Given the description of an element on the screen output the (x, y) to click on. 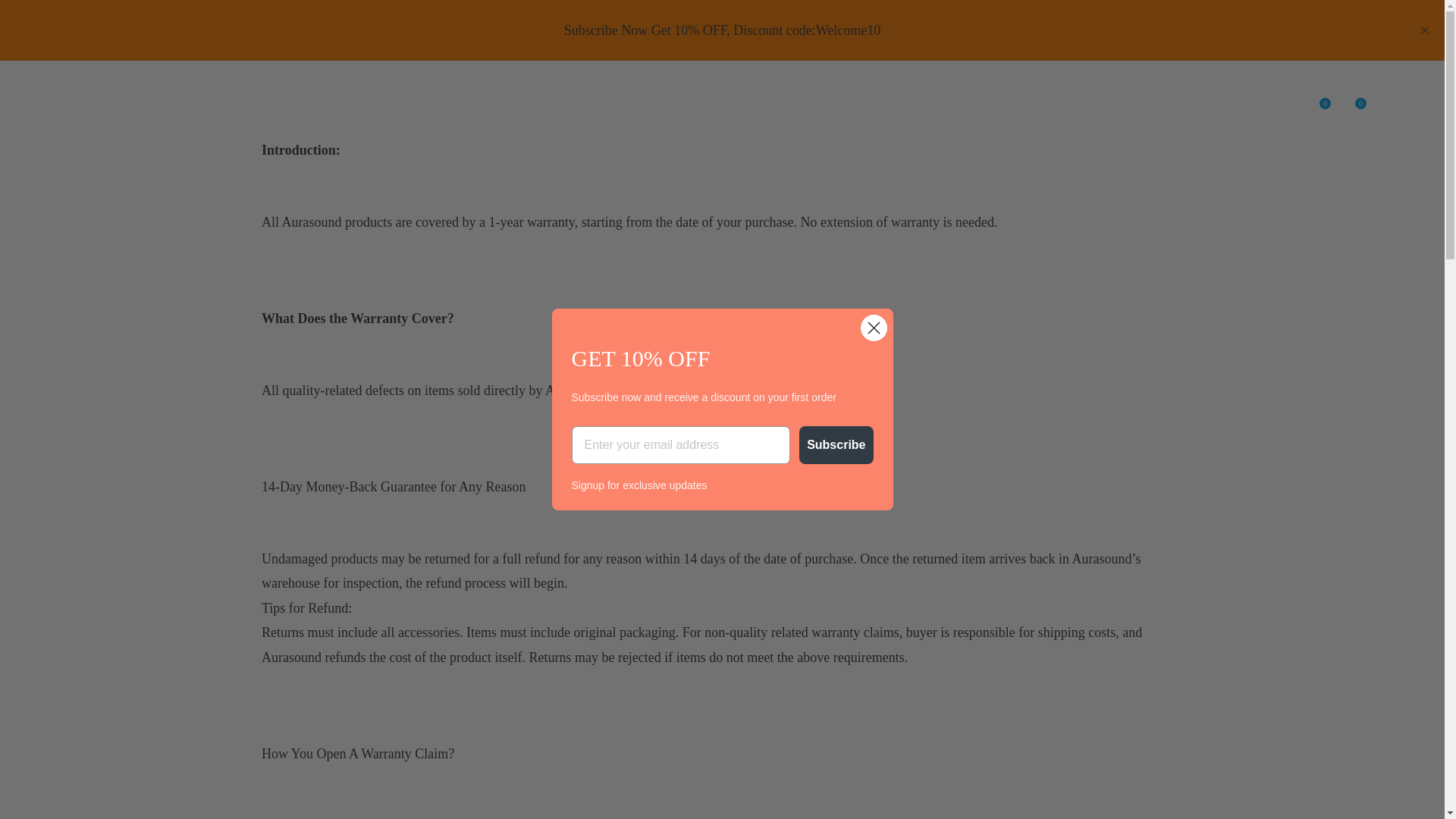
Support (811, 99)
0 (1356, 98)
0 (1321, 98)
Explore (699, 99)
Aurasound (94, 97)
